Given the description of an element on the screen output the (x, y) to click on. 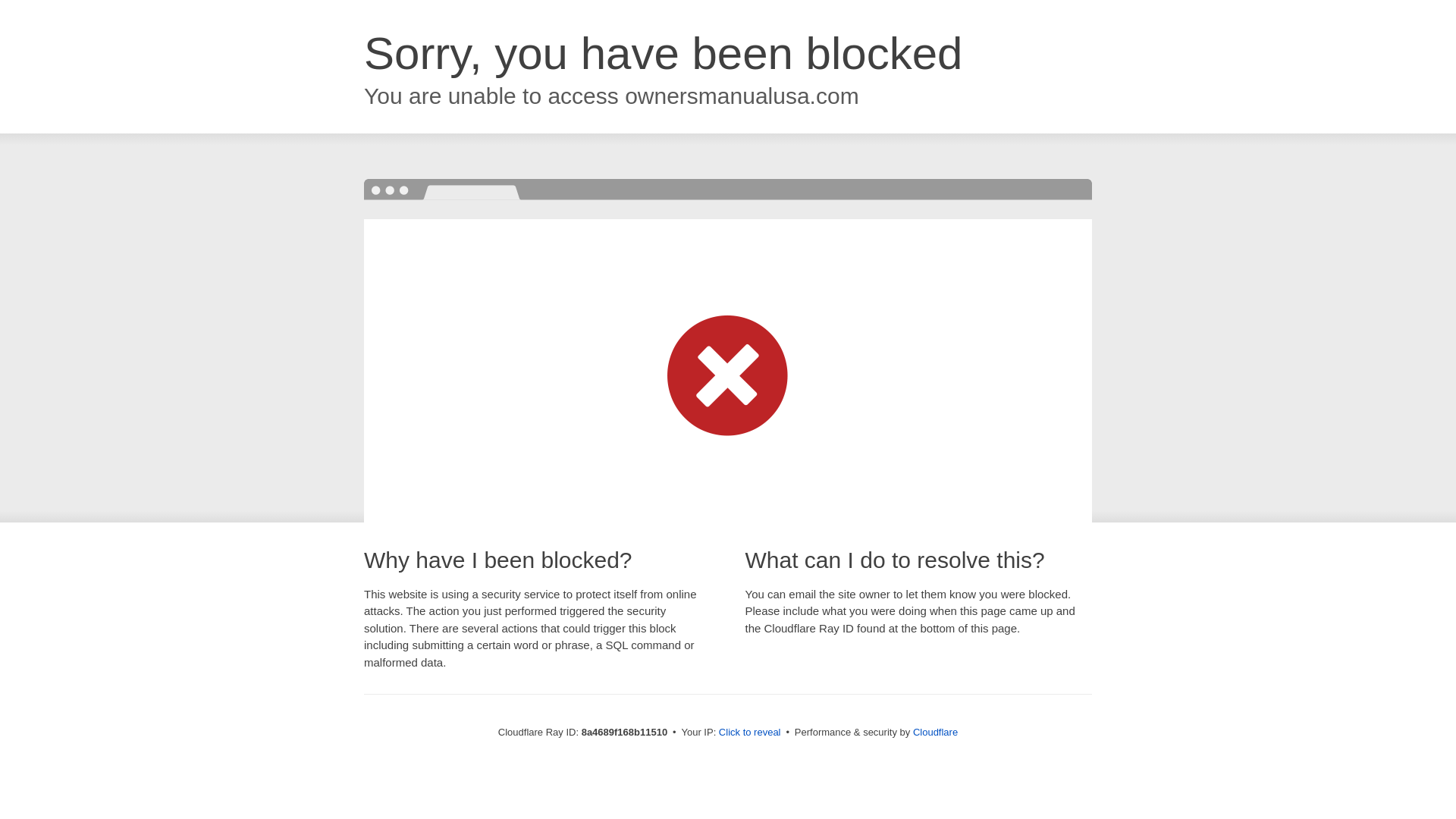
Cloudflare (935, 731)
Click to reveal (749, 732)
